Given the description of an element on the screen output the (x, y) to click on. 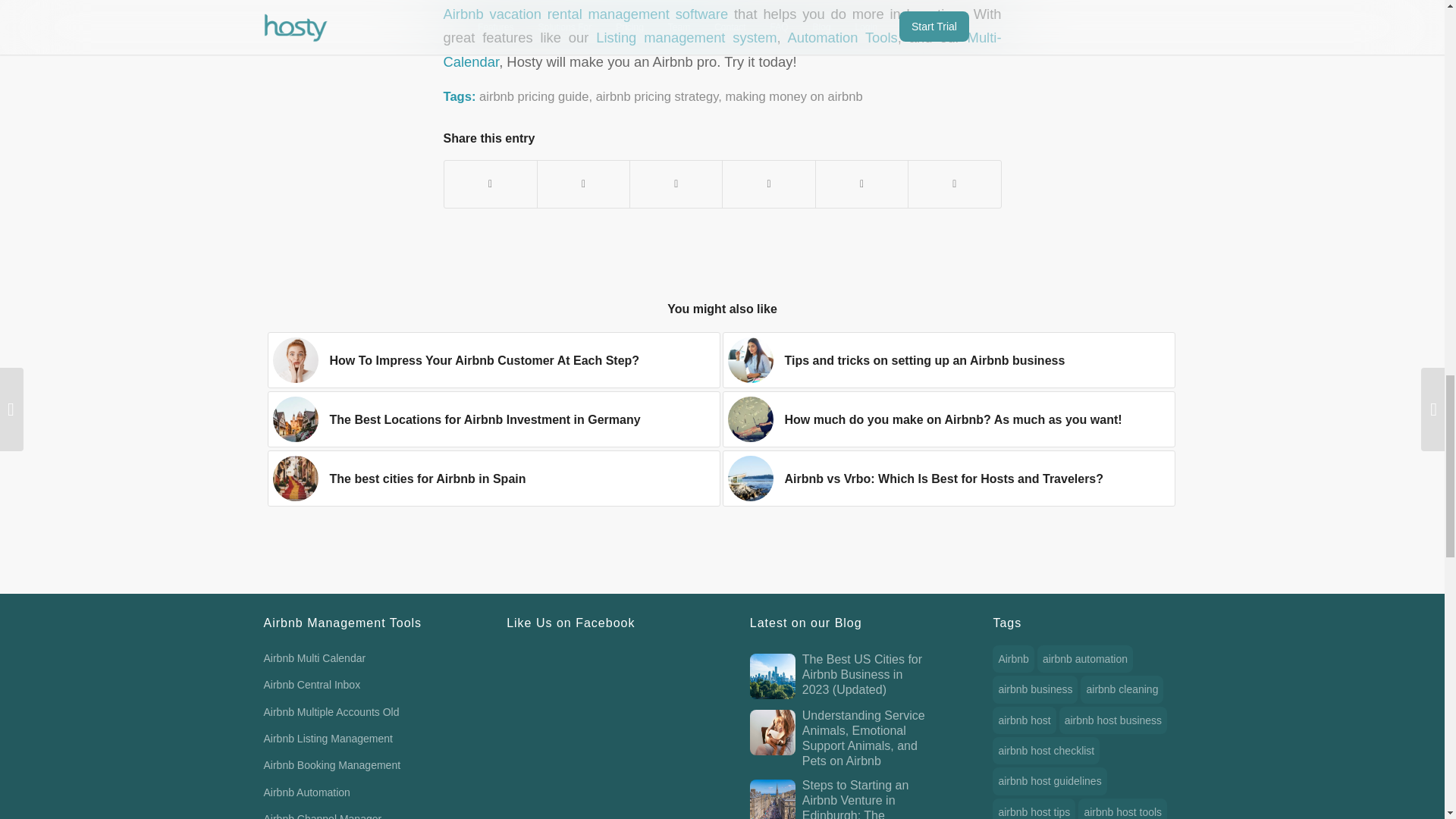
Airbnb vacation rental management software (585, 13)
Best locations for Airbnb Germany (295, 419)
Multi-Calendar (721, 48)
How to impress Airbnb customer (295, 360)
Setting Up An Airbnb Business (750, 360)
The Best Locations for Airbnb Investment in Germany (492, 419)
Listing management system (685, 37)
How To Impress Your Airbnb Customer At Each Step? (492, 360)
How much do you make on Airbnb? As much as you want! (948, 419)
Tips and tricks on setting up an Airbnb business (948, 360)
Automation Tools (841, 37)
airbnb pricing guide (533, 96)
